Given the description of an element on the screen output the (x, y) to click on. 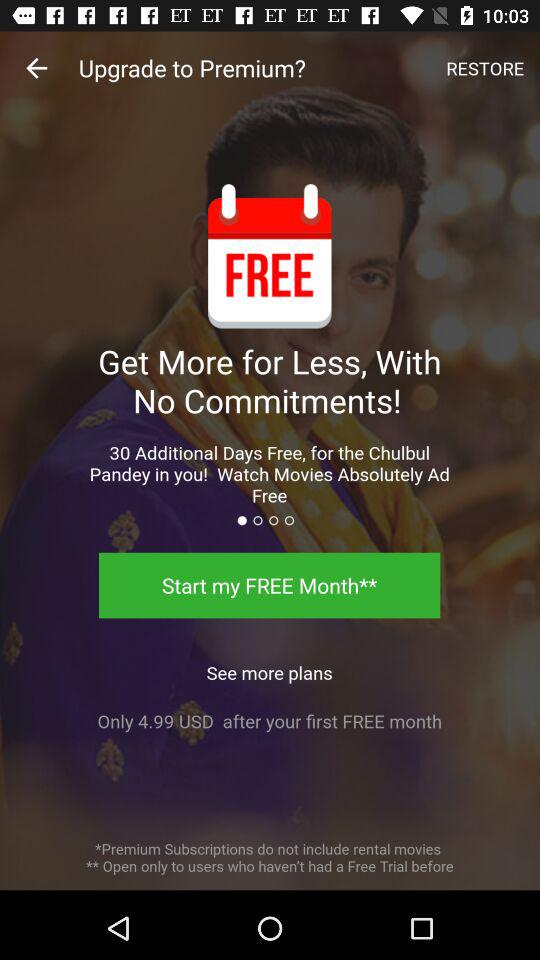
select icon above see more plans (269, 585)
